Given the description of an element on the screen output the (x, y) to click on. 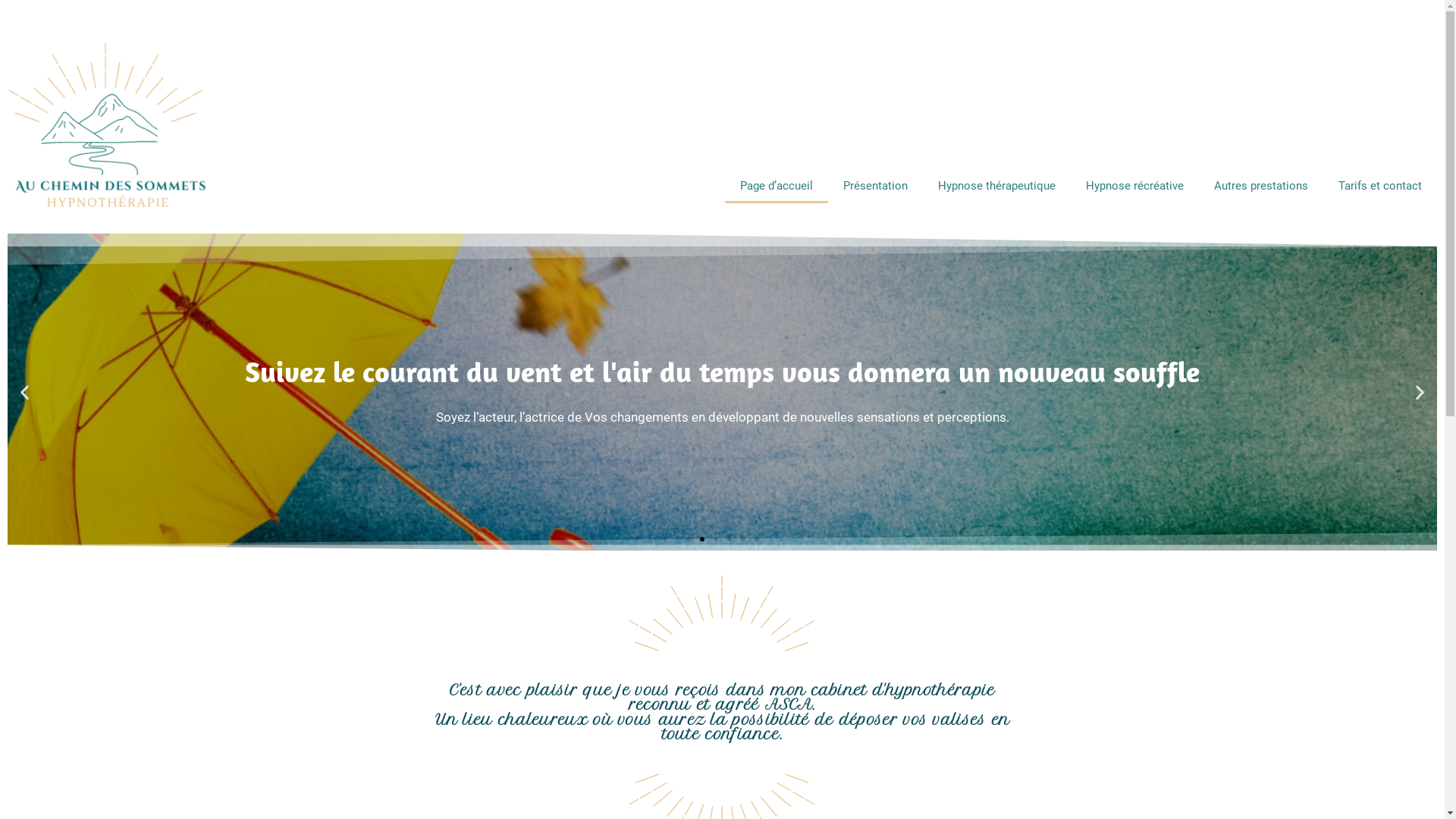
Autres prestations Element type: text (1260, 185)
rayons2 Element type: hover (722, 616)
Tarifs et contact Element type: text (1380, 185)
